Given the description of an element on the screen output the (x, y) to click on. 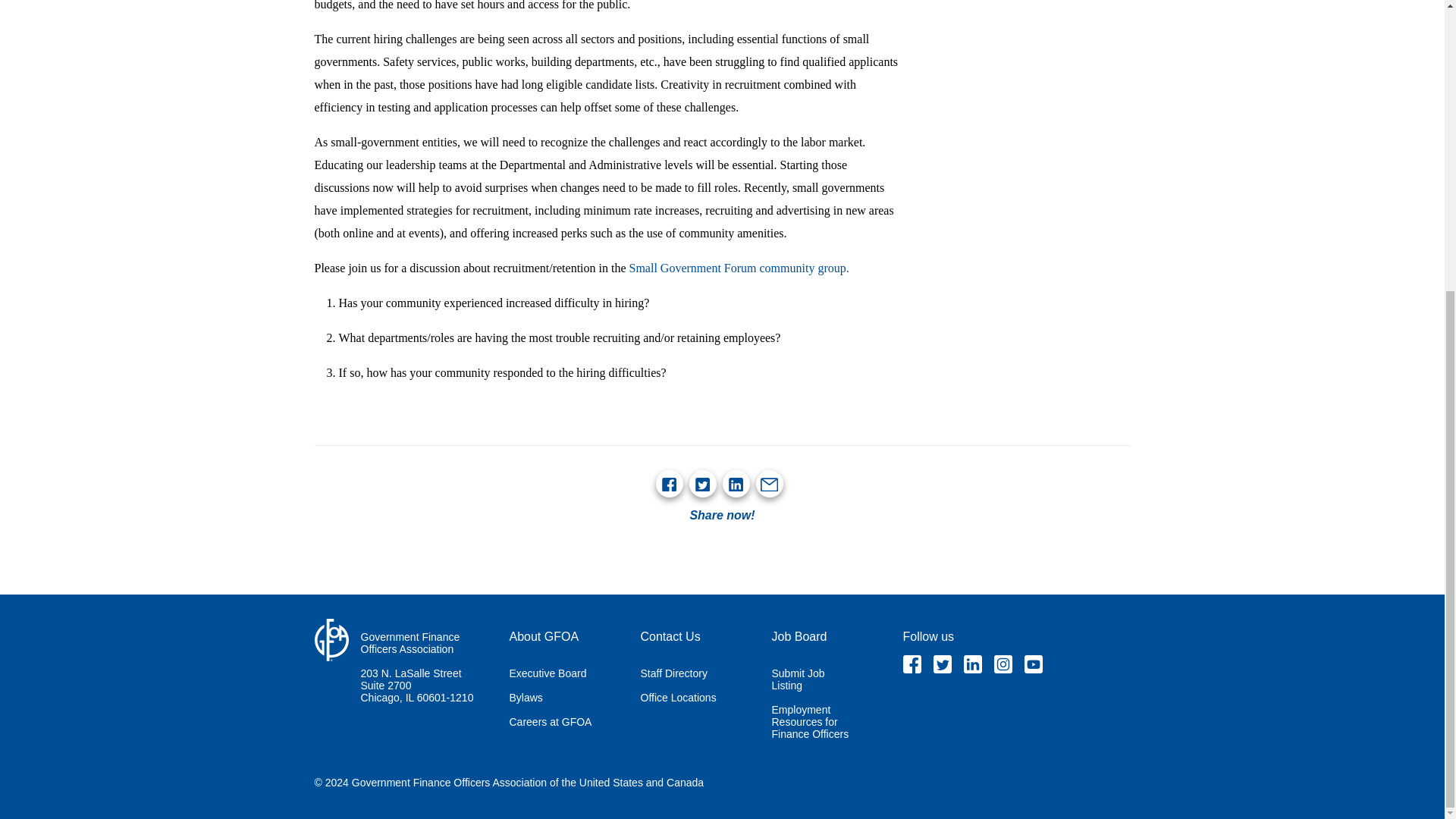
Facebook (669, 484)
YouTube (1032, 664)
LinkedIn (971, 664)
Instagram (1001, 664)
Twitter (702, 484)
Facebook (911, 664)
LinkedIn (735, 484)
Twitter (941, 664)
